Given the description of an element on the screen output the (x, y) to click on. 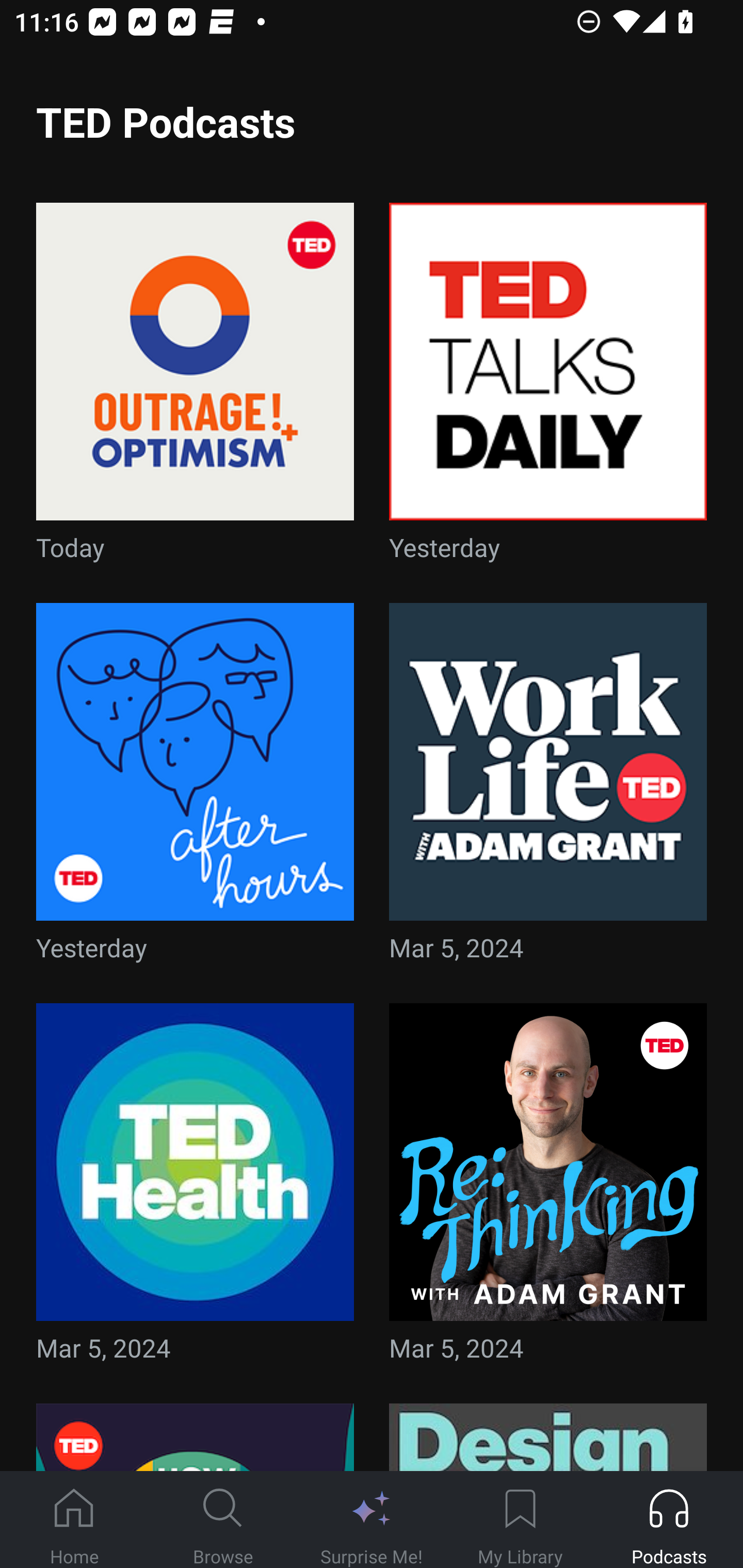
Today (194, 387)
Yesterday (547, 387)
Yesterday (194, 788)
Mar 5, 2024 (547, 788)
Mar 5, 2024 (194, 1189)
Mar 5, 2024 (547, 1189)
Home (74, 1520)
Browse (222, 1520)
Surprise Me! (371, 1520)
My Library (519, 1520)
Podcasts (668, 1520)
